Given the description of an element on the screen output the (x, y) to click on. 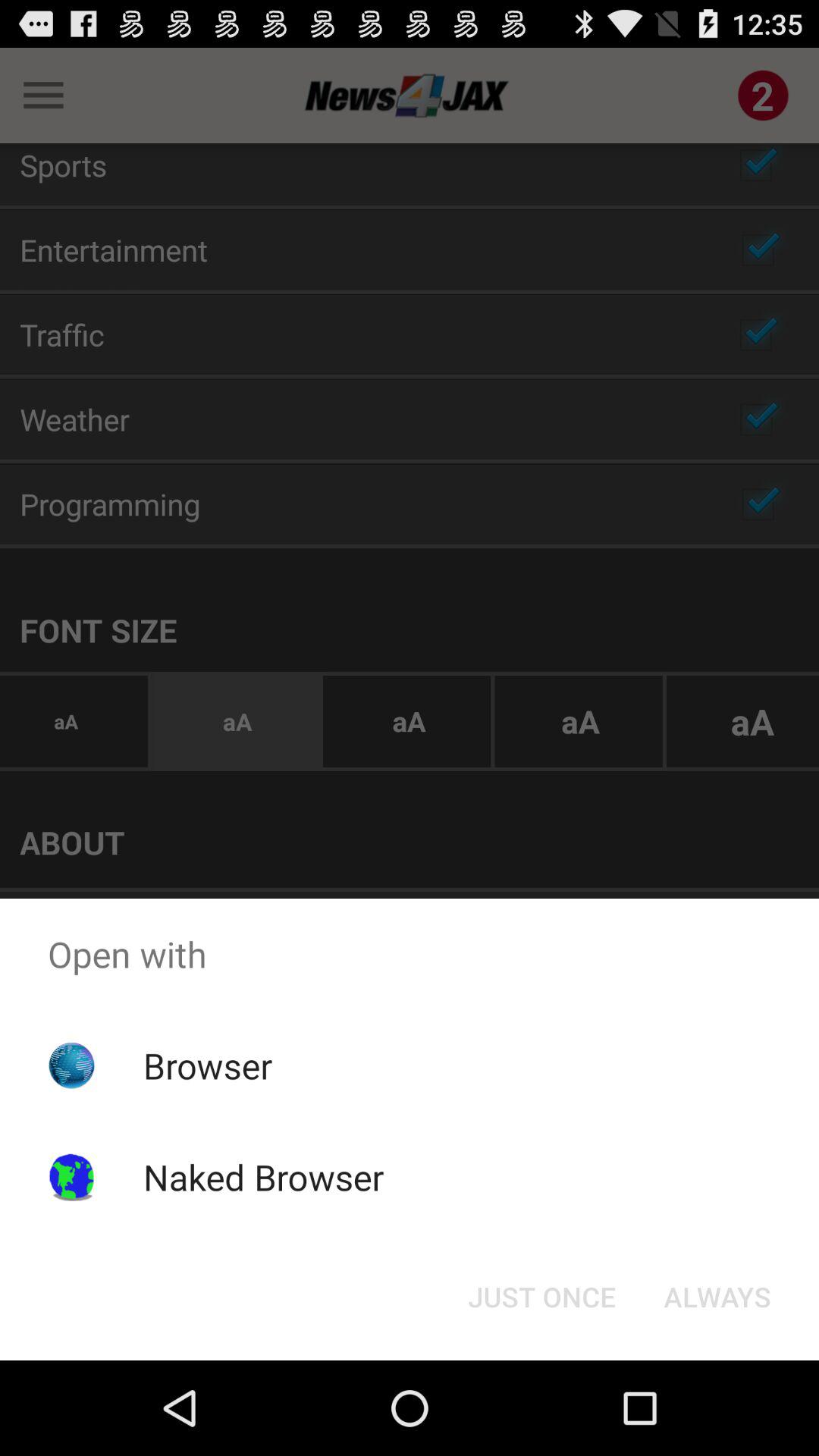
choose the button next to the always (541, 1296)
